Given the description of an element on the screen output the (x, y) to click on. 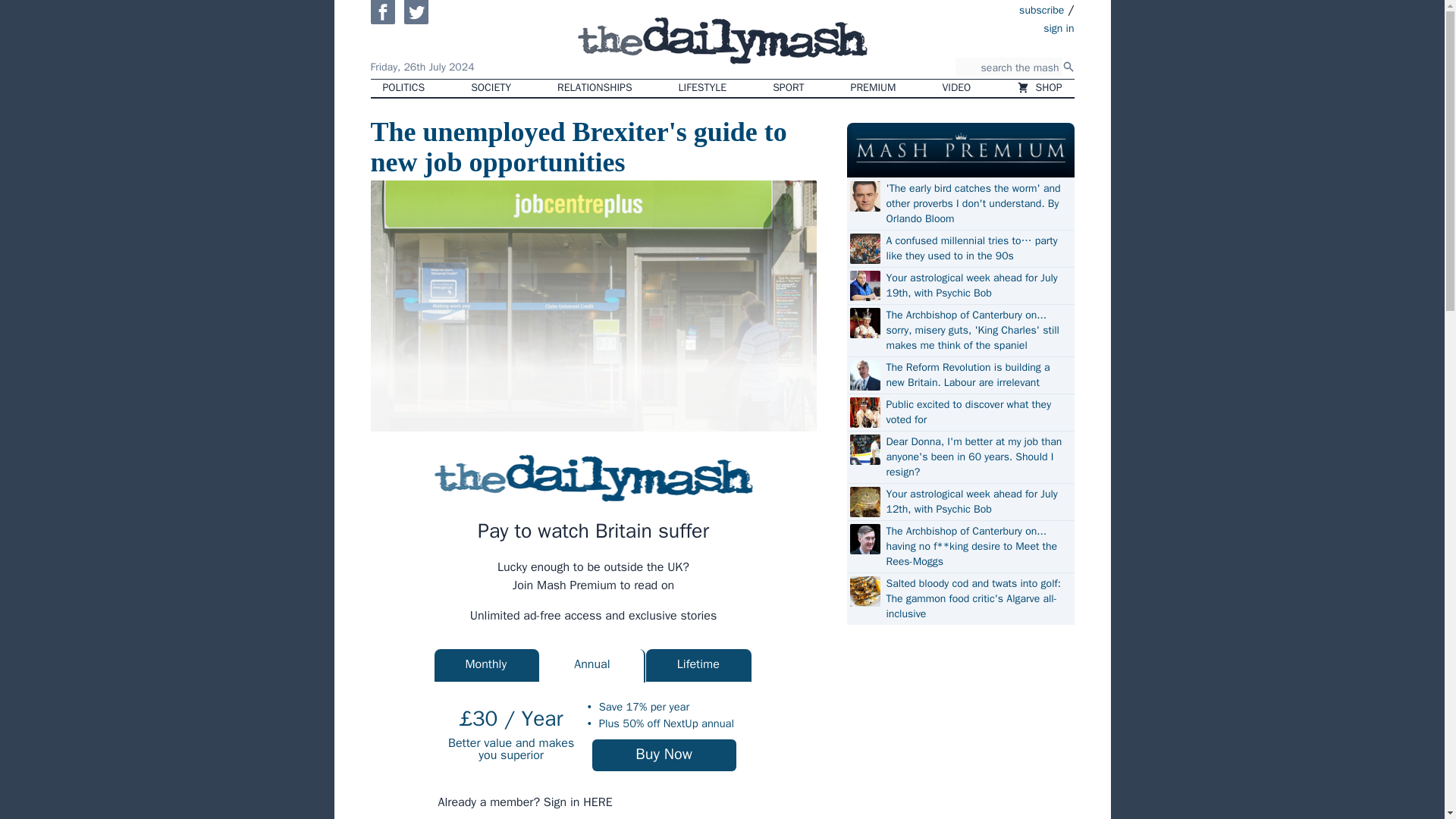
subscribe (1041, 9)
Public excited to discover what they voted for (977, 412)
Buy Now (664, 755)
SHOP (1039, 88)
VIDEO (957, 88)
RELATIONSHIPS (593, 88)
sign in (970, 27)
POLITICS (402, 88)
SOCIETY (490, 88)
PREMIUM (873, 88)
Your astrological week ahead for July 19th, with Psychic Bob (977, 286)
SPORT (787, 88)
LIFESTYLE (702, 88)
